Given the description of an element on the screen output the (x, y) to click on. 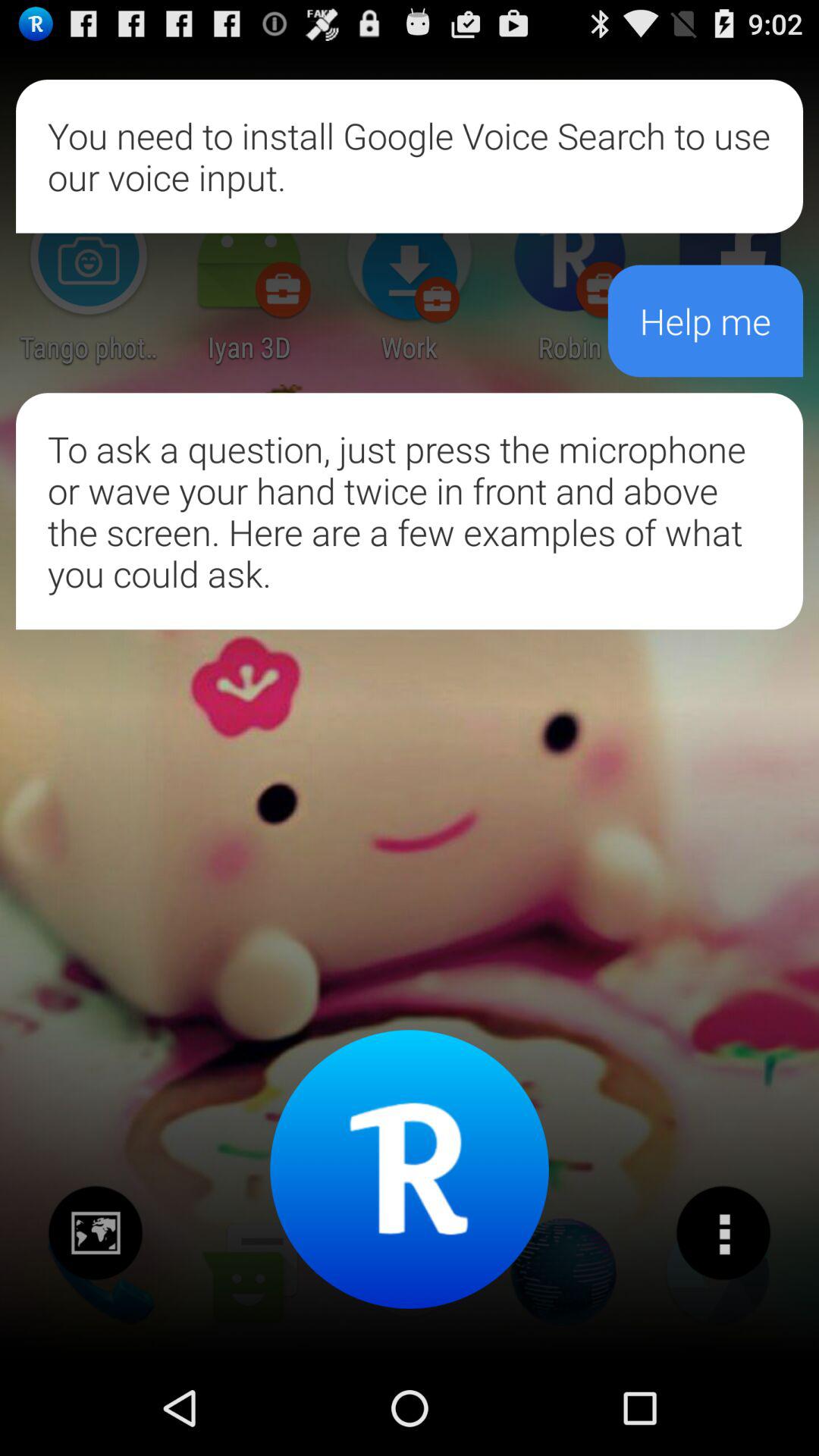
choose the icon at the bottom left corner (95, 1232)
